Given the description of an element on the screen output the (x, y) to click on. 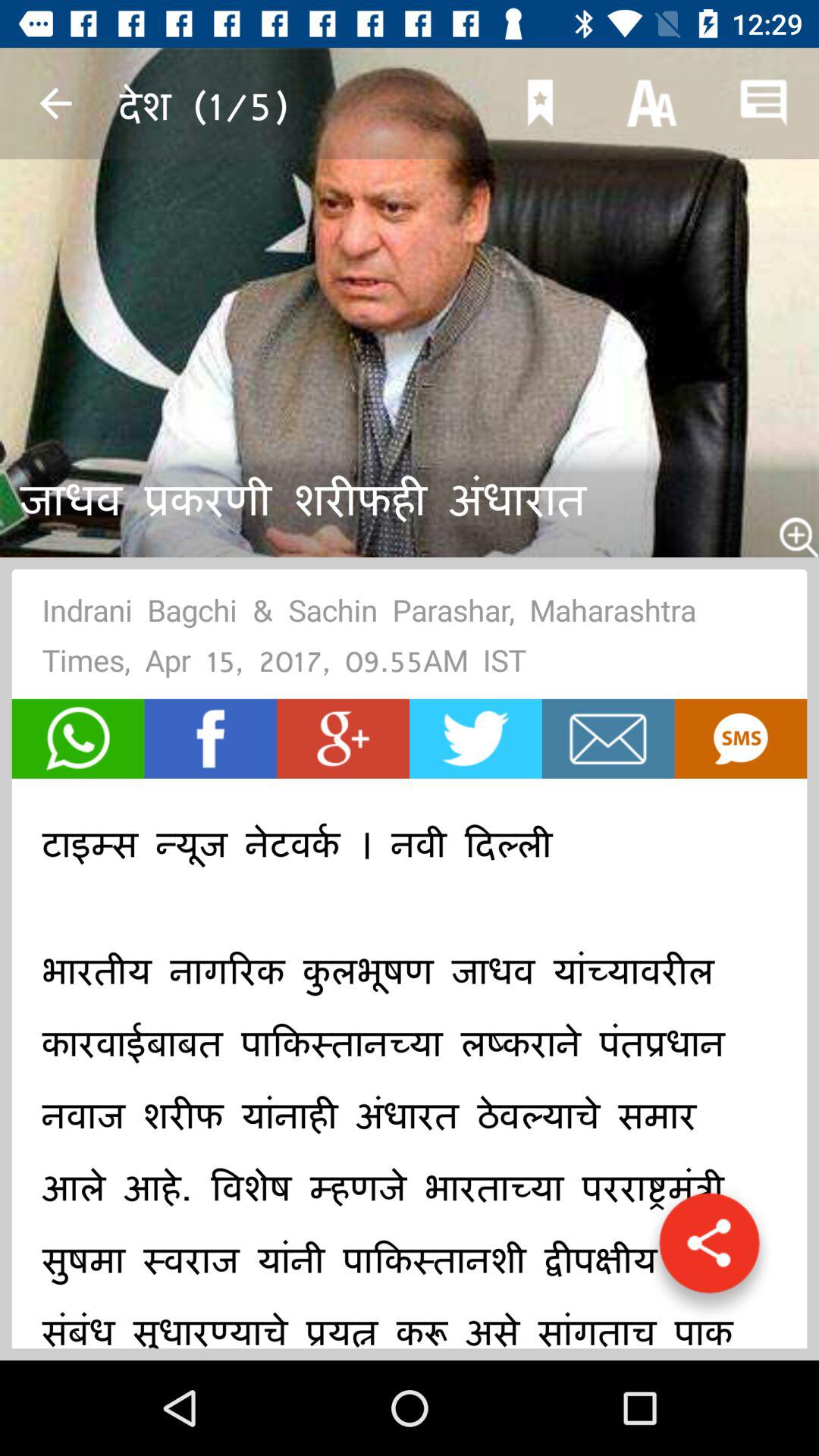
share options (709, 1250)
